Given the description of an element on the screen output the (x, y) to click on. 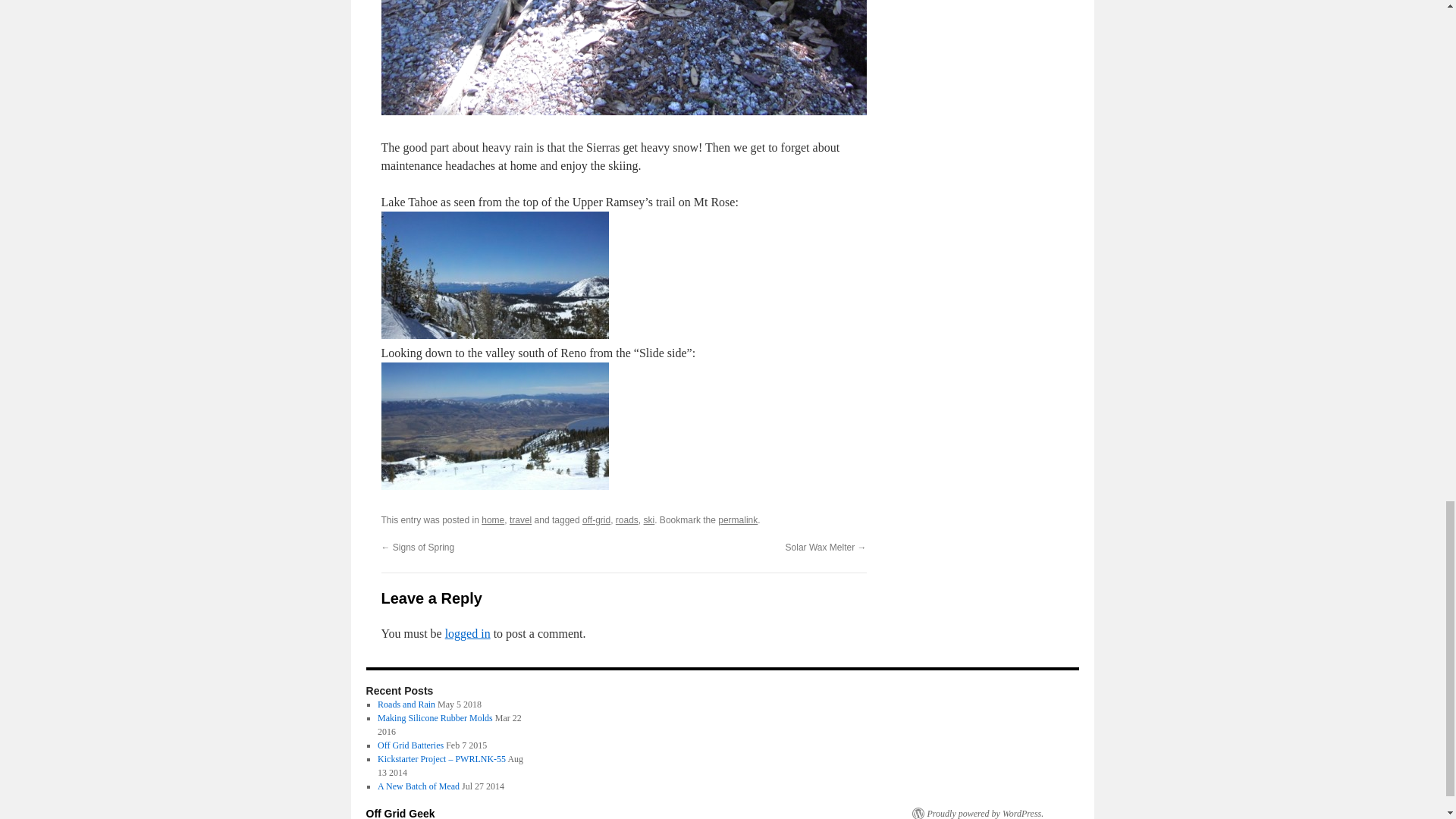
off-grid (596, 520)
Permalink to Rain and Snow (737, 520)
ski (649, 520)
permalink (737, 520)
roads (627, 520)
home (492, 520)
travel (520, 520)
logged in (467, 633)
